Given the description of an element on the screen output the (x, y) to click on. 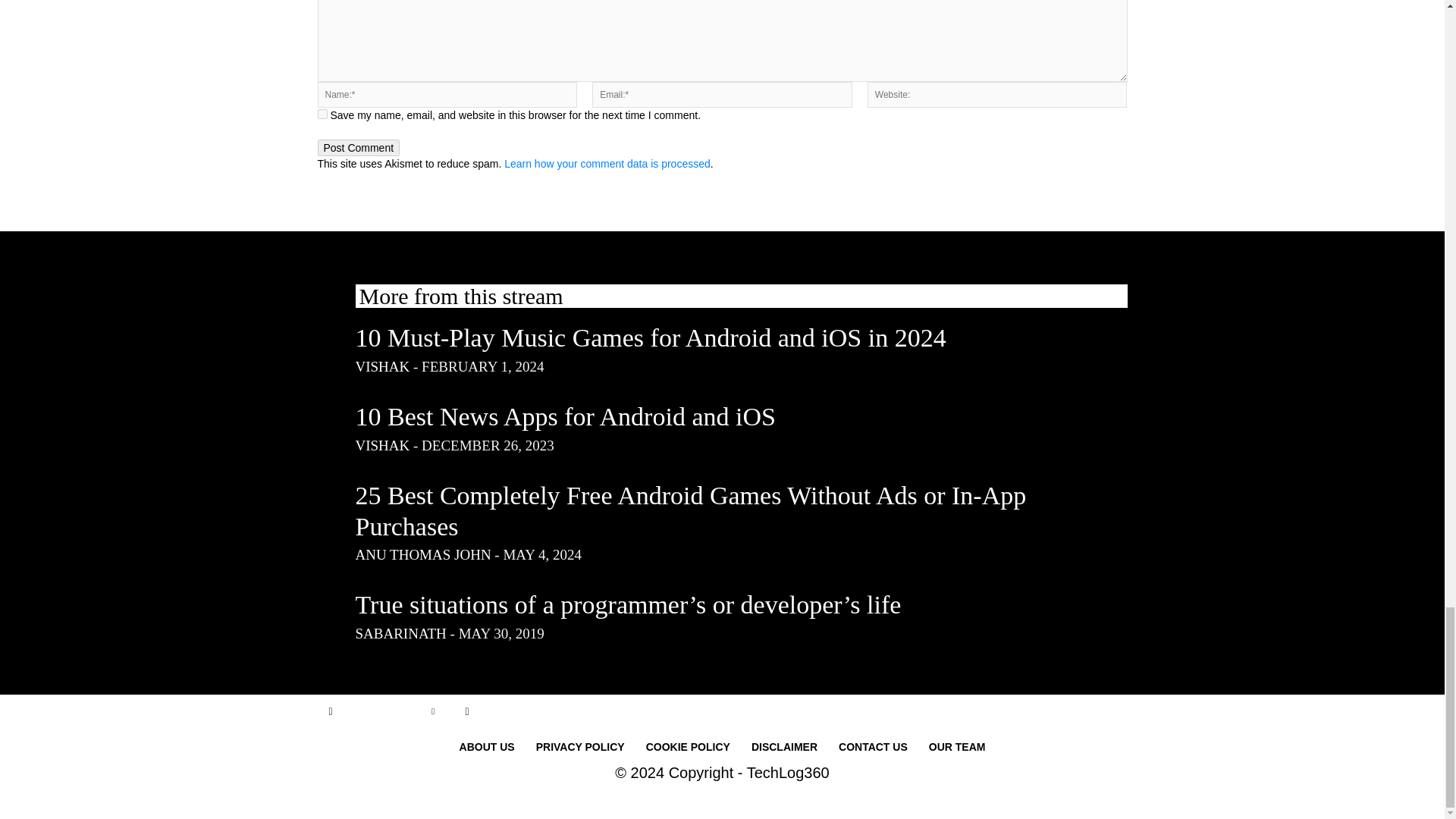
Post Comment (357, 147)
yes (321, 113)
